Given the description of an element on the screen output the (x, y) to click on. 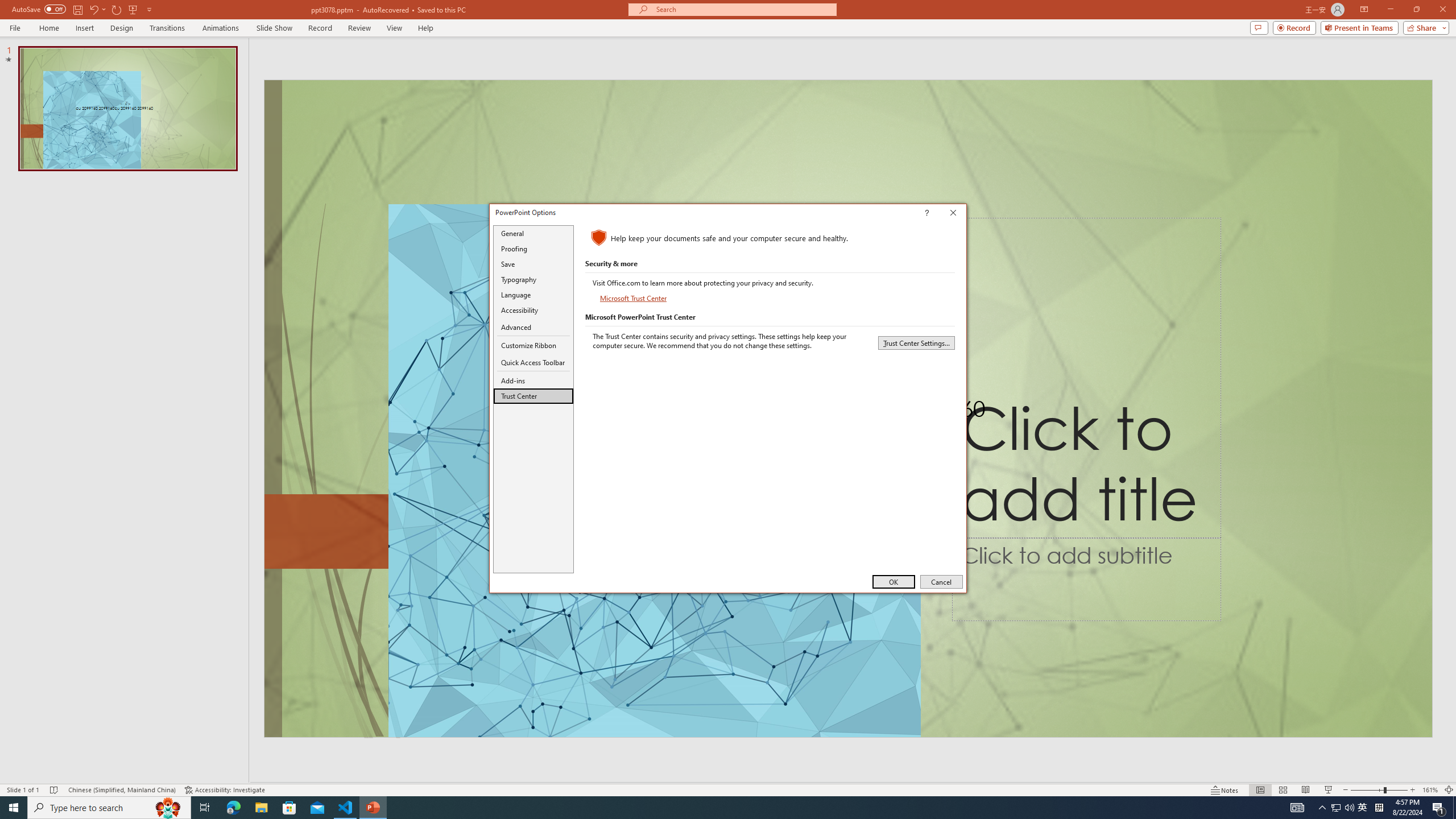
Trust Center Settings... (916, 342)
Typography (533, 279)
Microsoft Trust Center (633, 298)
Trust Center (533, 395)
